Given the description of an element on the screen output the (x, y) to click on. 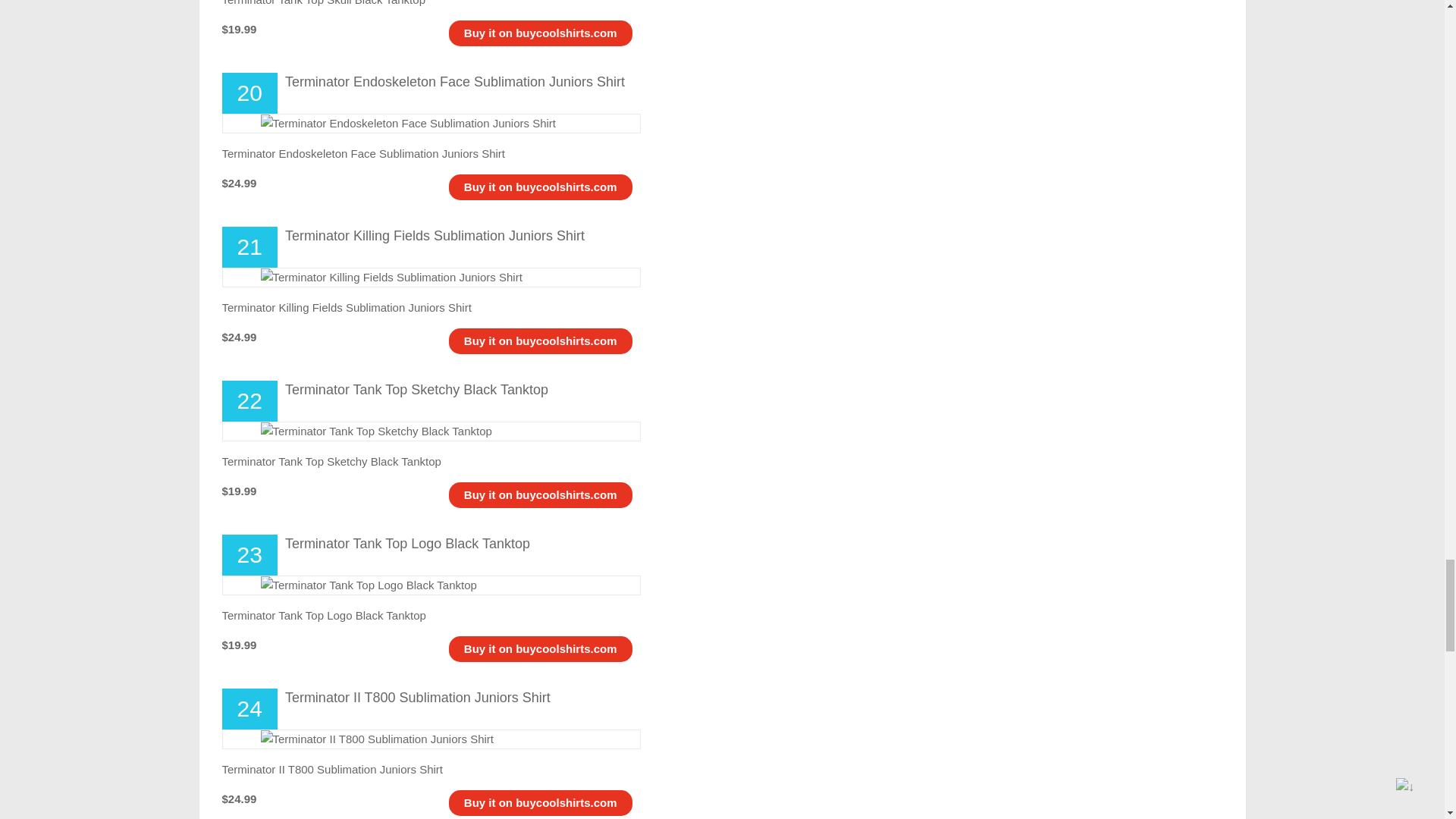
Buy it on buycoolshirts.com (540, 648)
Buy it on buycoolshirts.com (540, 802)
Buy it on buycoolshirts.com (540, 32)
Buy it on buycoolshirts.com (540, 494)
Buy it on buycoolshirts.com (540, 340)
Buy it on buycoolshirts.com (540, 186)
